Given the description of an element on the screen output the (x, y) to click on. 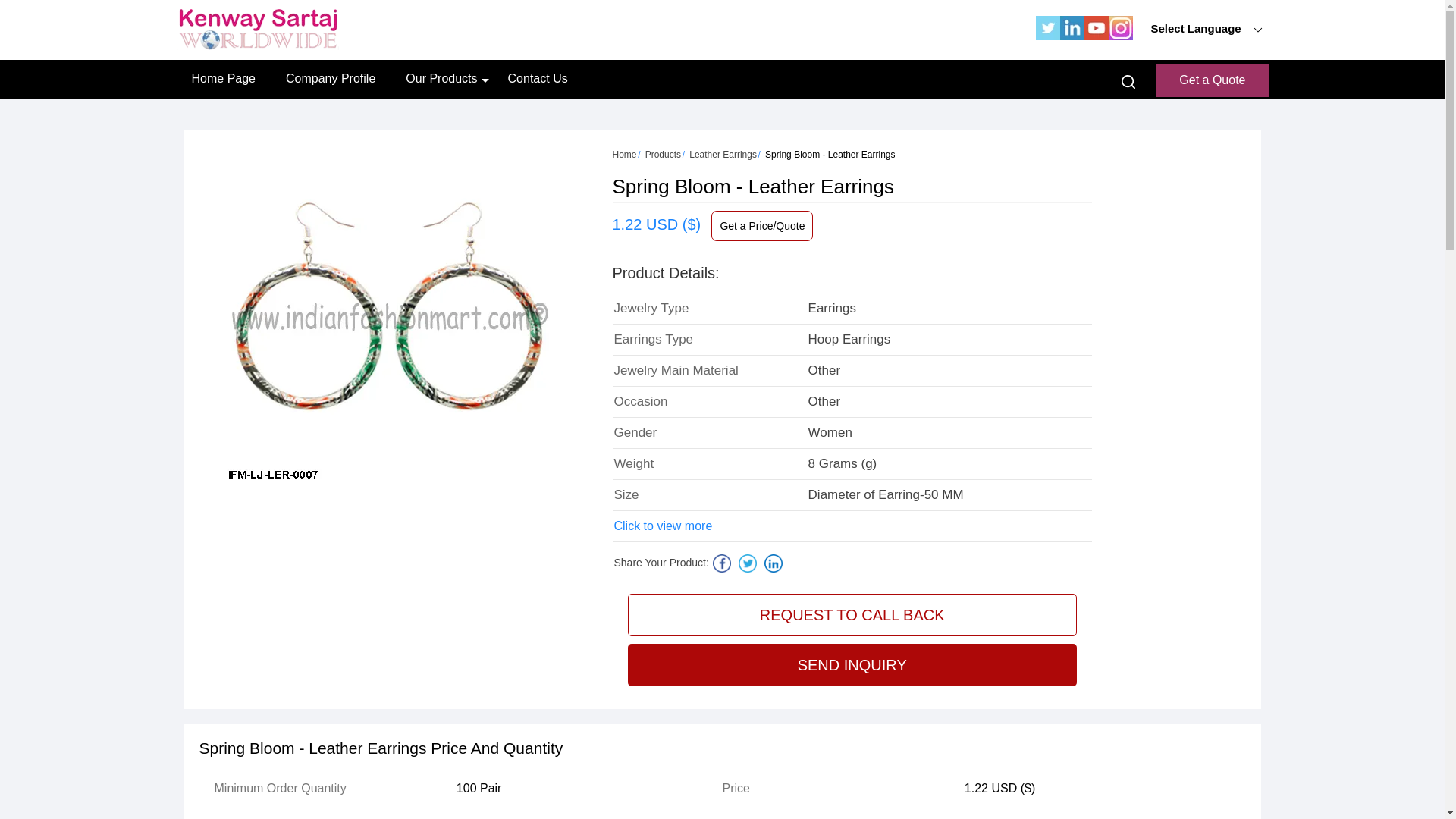
Our Products (441, 78)
Select Language (1207, 28)
Kenway Sartaj Worldwide (256, 29)
LinkedIn (1071, 35)
Twitter (1047, 35)
Instagram (1120, 35)
You Tube (1096, 35)
Company Profile (330, 78)
Home Page (223, 78)
